Given the description of an element on the screen output the (x, y) to click on. 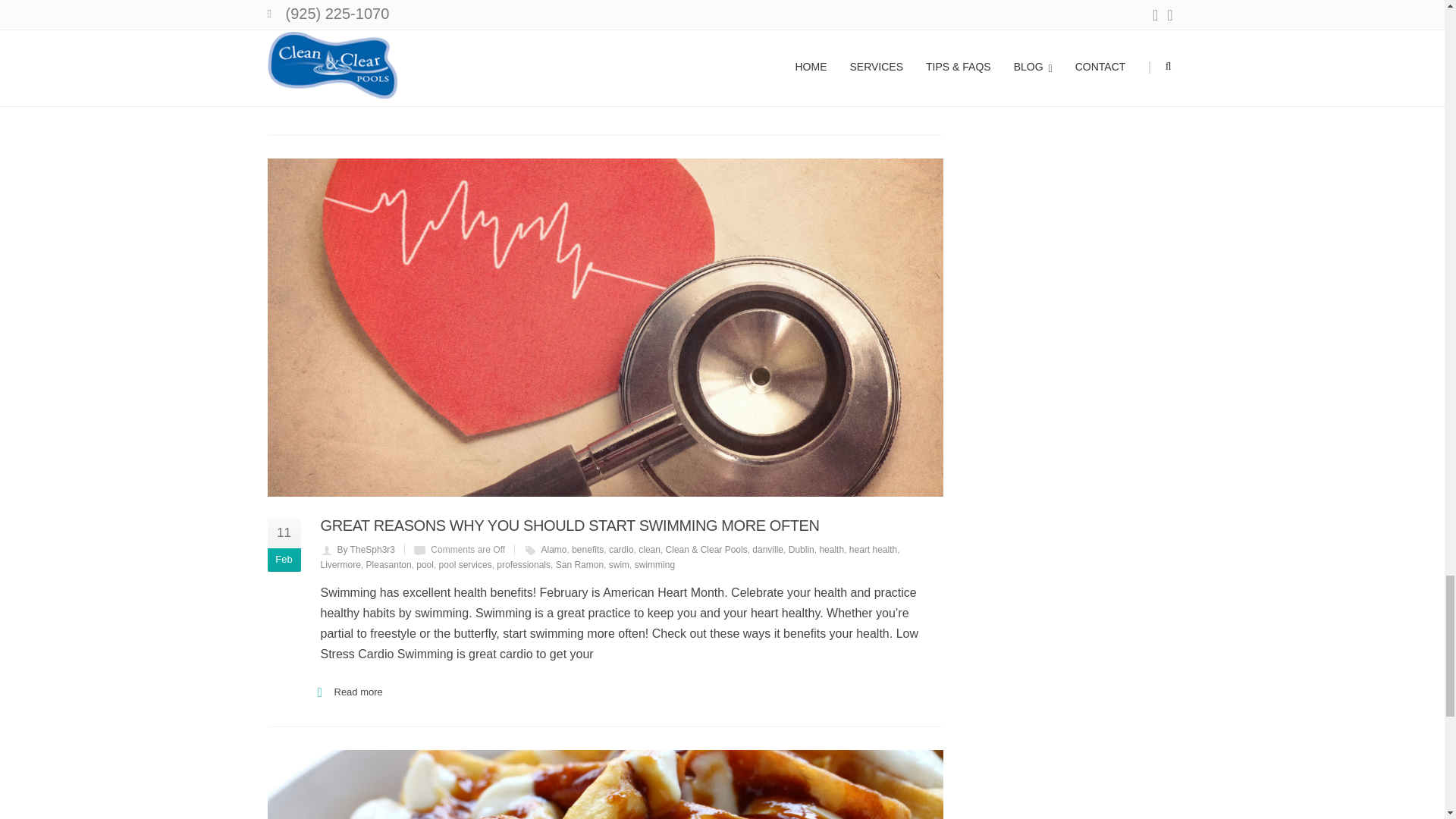
Super Bowl Recipe: A Spicy Twist On A Classic Dish (604, 784)
